Given the description of an element on the screen output the (x, y) to click on. 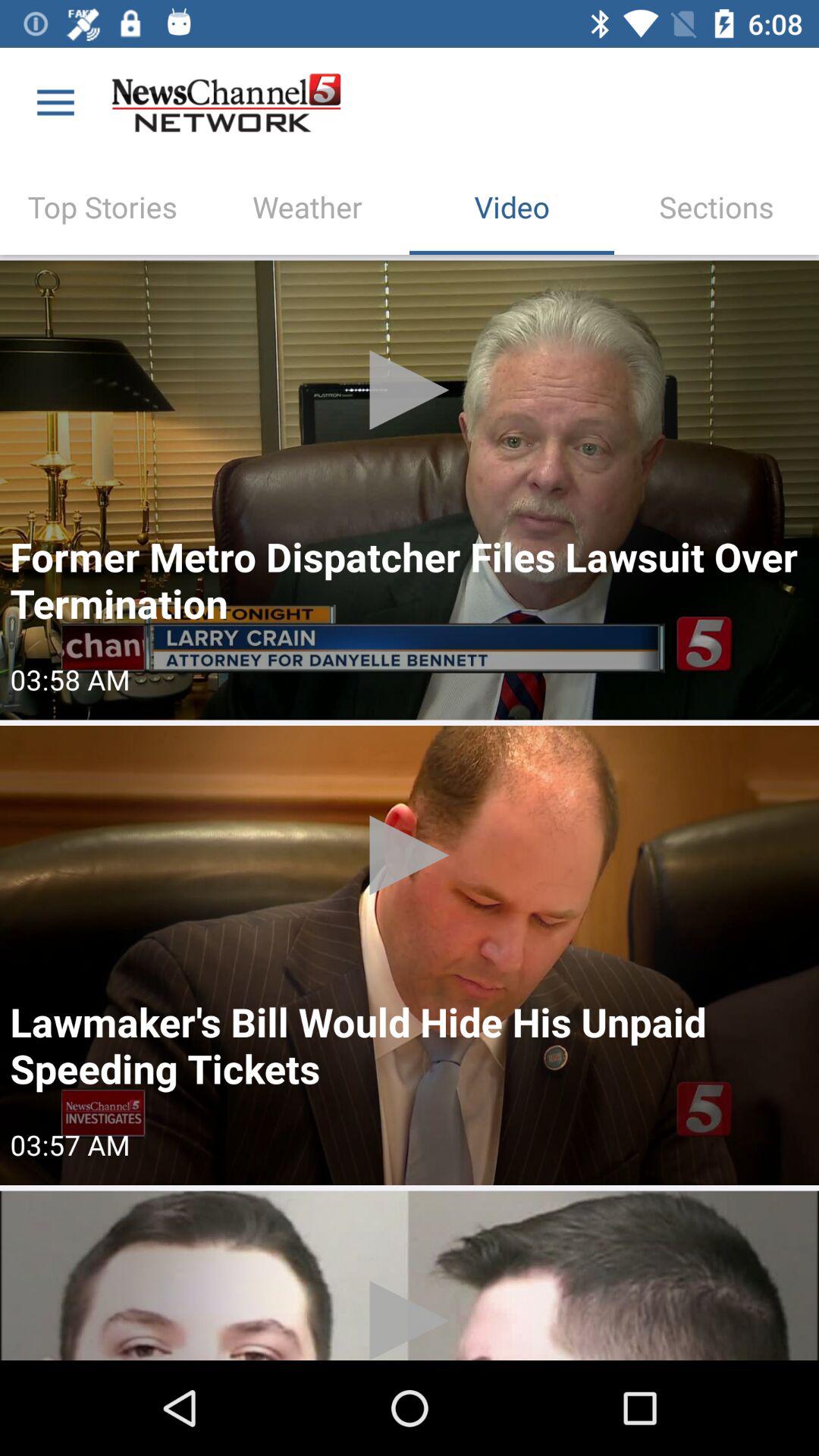
press to play (409, 490)
